Given the description of an element on the screen output the (x, y) to click on. 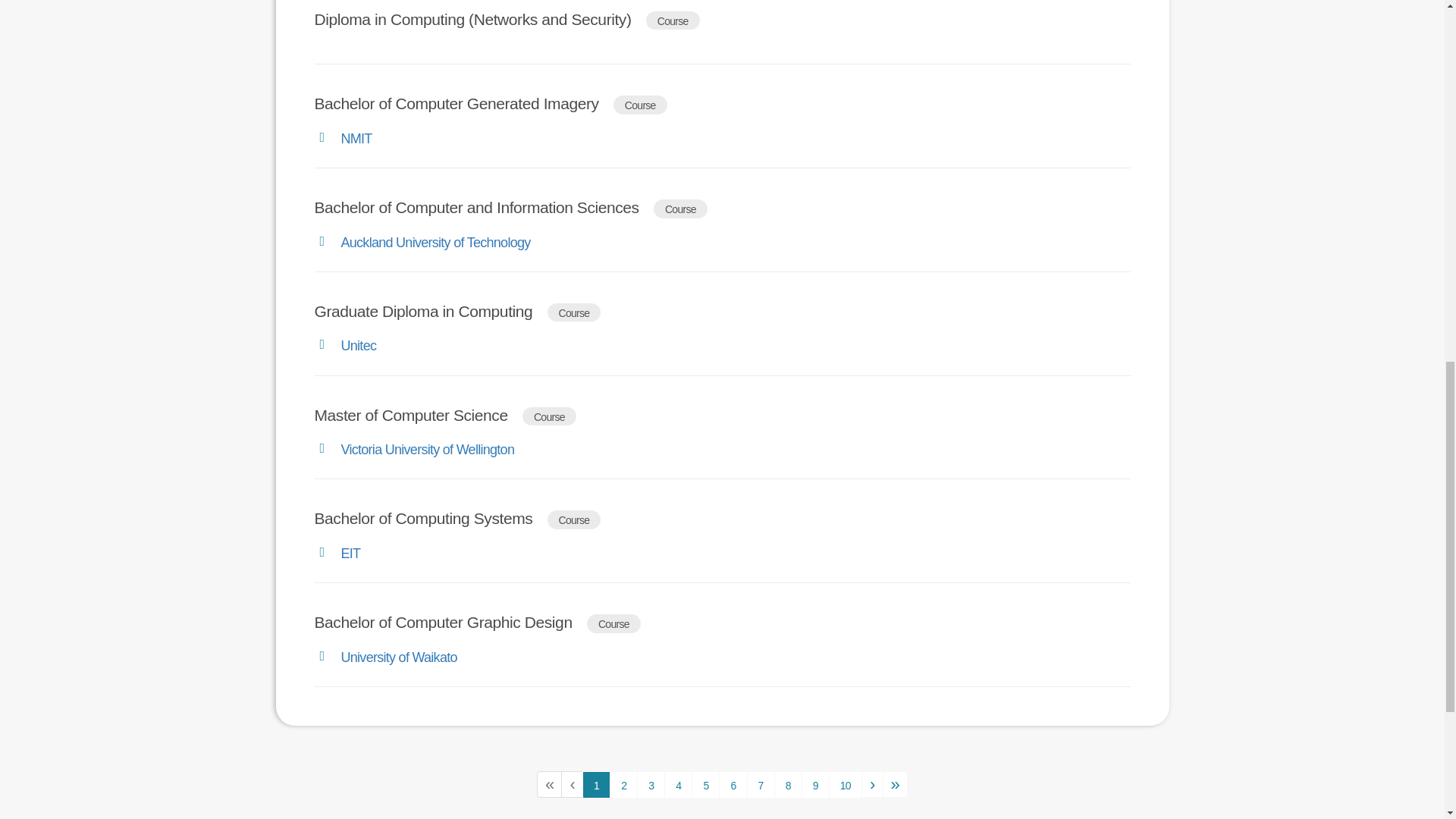
View page number 8 (788, 784)
View page number 10 (844, 784)
View page number 7 (760, 784)
View page number 3 (651, 784)
View page number 4 (678, 784)
View page number 9 (815, 784)
View page number 5 (705, 784)
View page number 2 (623, 784)
View page number 6 (732, 784)
View page number 1 (596, 784)
